Given the description of an element on the screen output the (x, y) to click on. 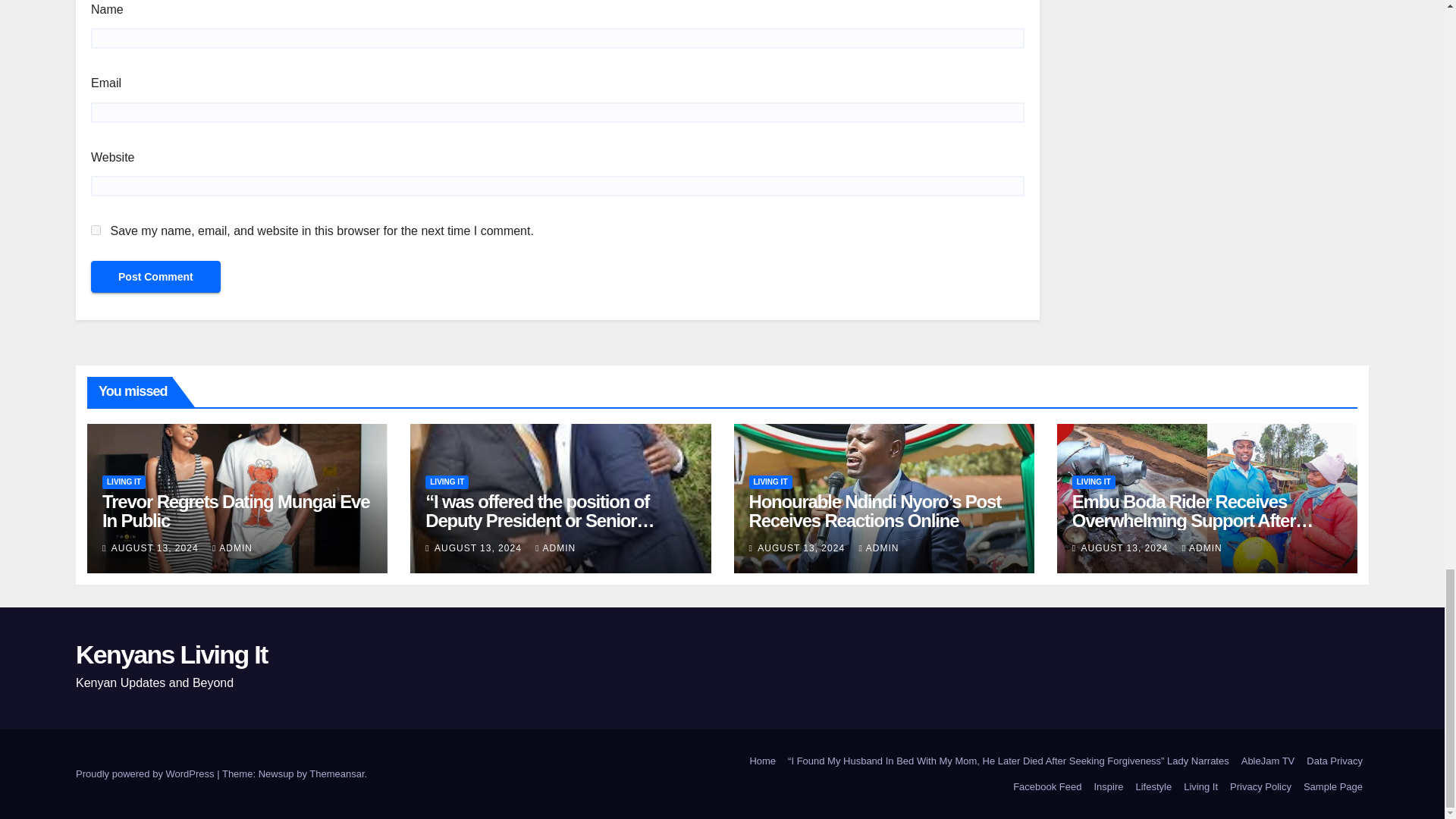
Permalink to: Trevor Regrets Dating Mungai Eve In Public (235, 510)
Post Comment (155, 276)
yes (95, 230)
Home (761, 760)
